Given the description of an element on the screen output the (x, y) to click on. 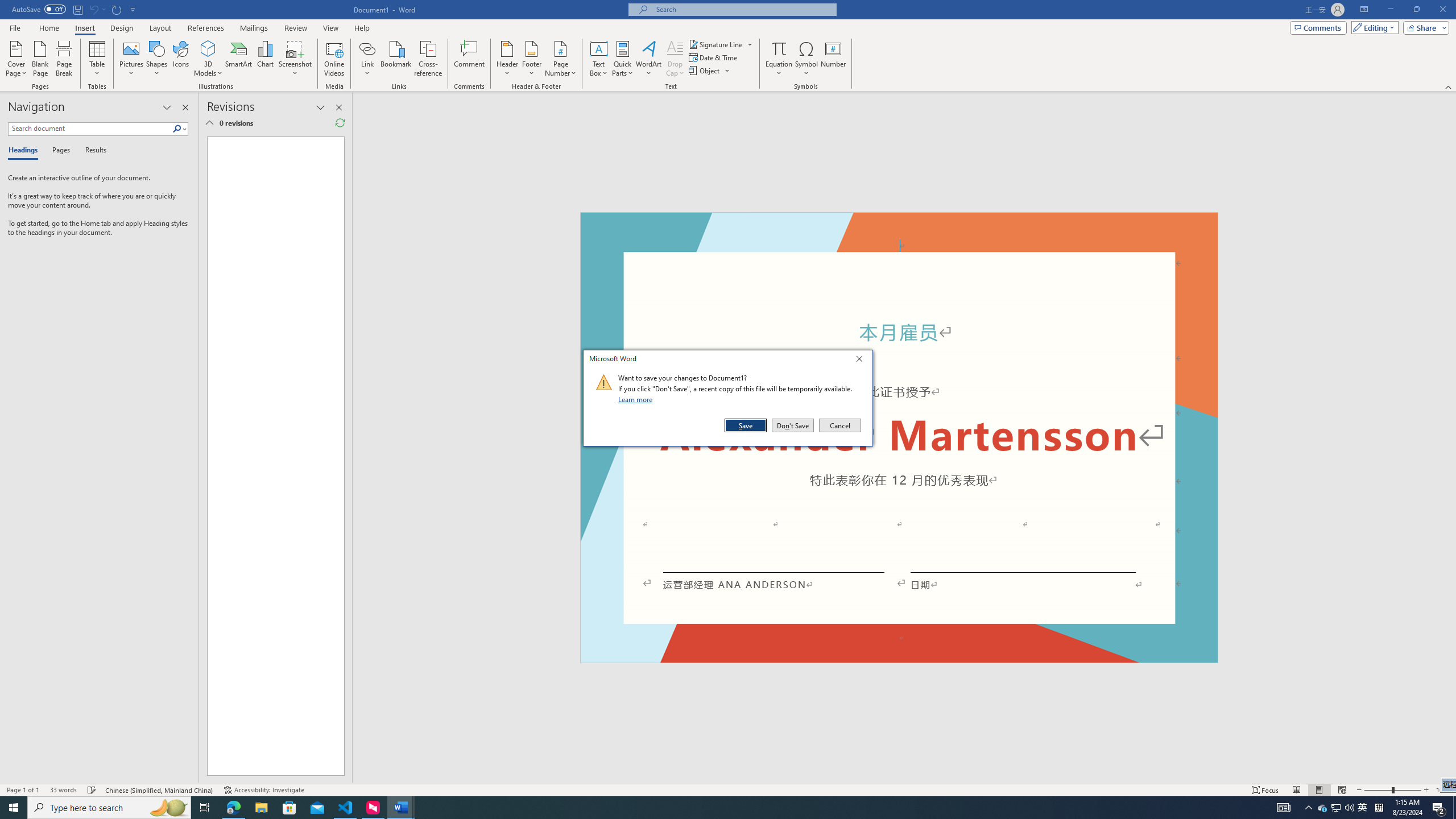
SmartArt... (1362, 807)
